Given the description of an element on the screen output the (x, y) to click on. 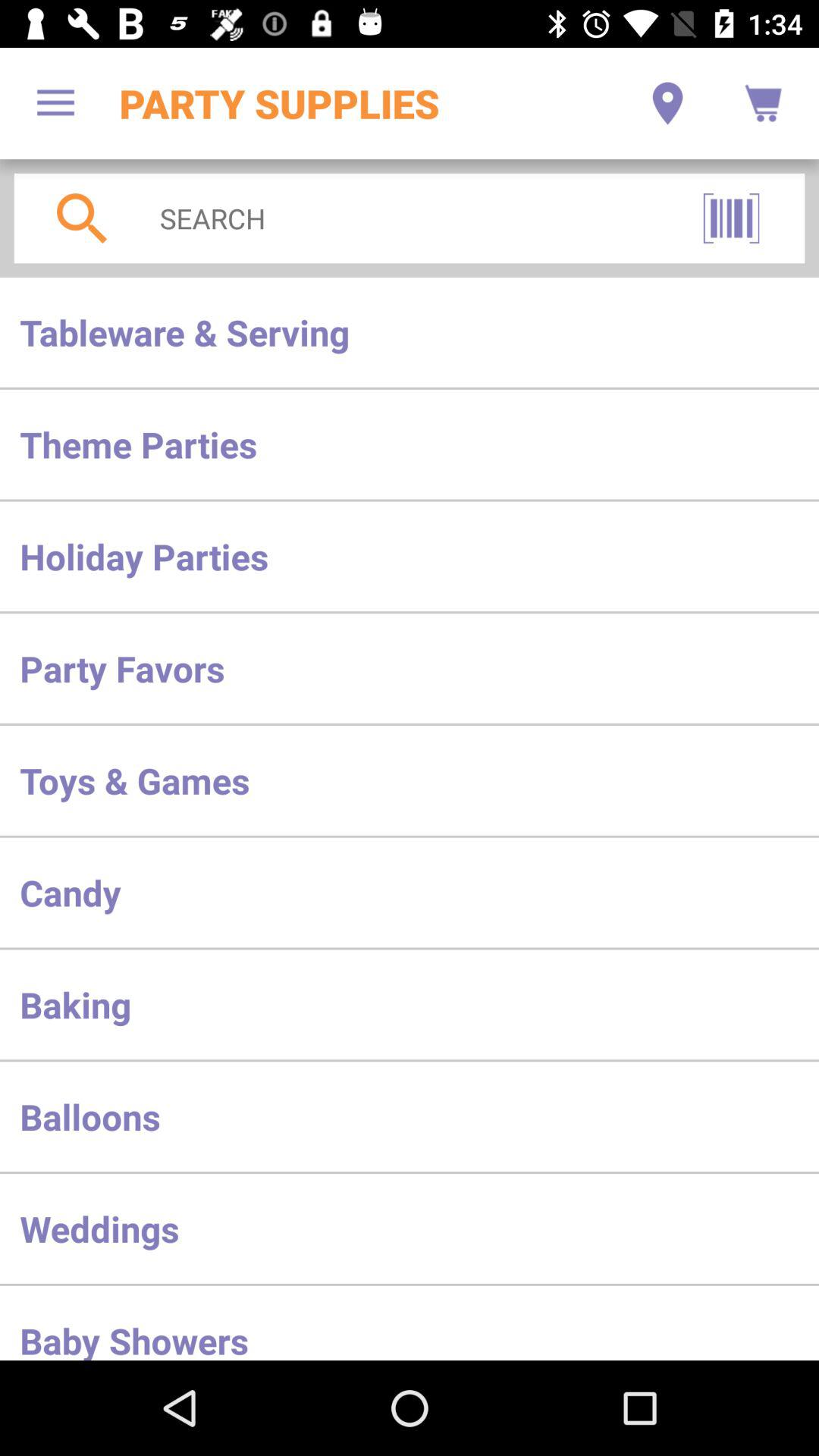
launch item above the weddings (409, 1116)
